Given the description of an element on the screen output the (x, y) to click on. 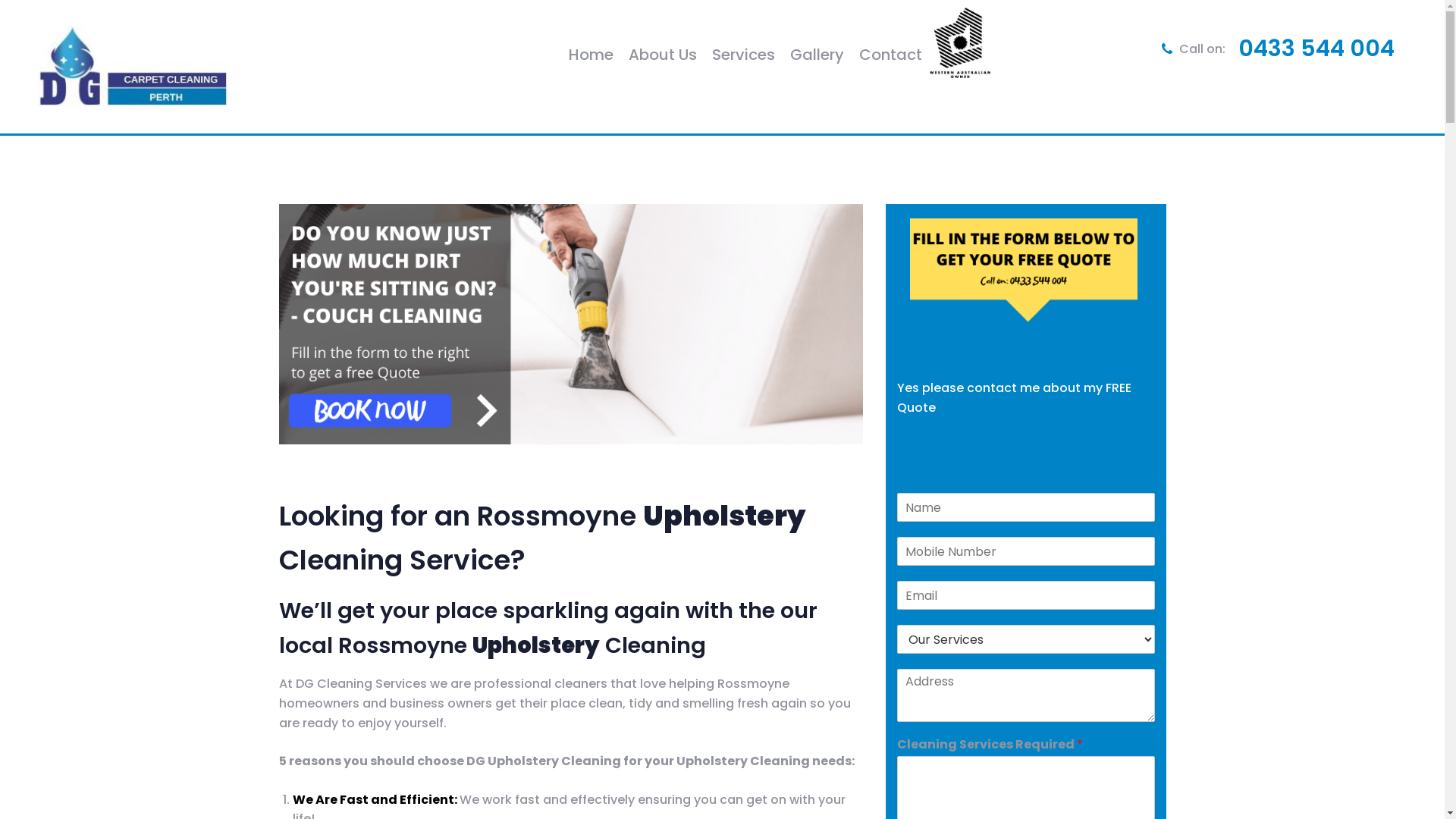
Gallery Element type: text (817, 54)
About Us Element type: text (662, 54)
0433 544 004 Element type: text (1316, 48)
DG Cleaning Services Element type: hover (132, 65)
Home Element type: text (590, 54)
Contact Element type: text (890, 54)
Services Element type: text (743, 54)
